Given the description of an element on the screen output the (x, y) to click on. 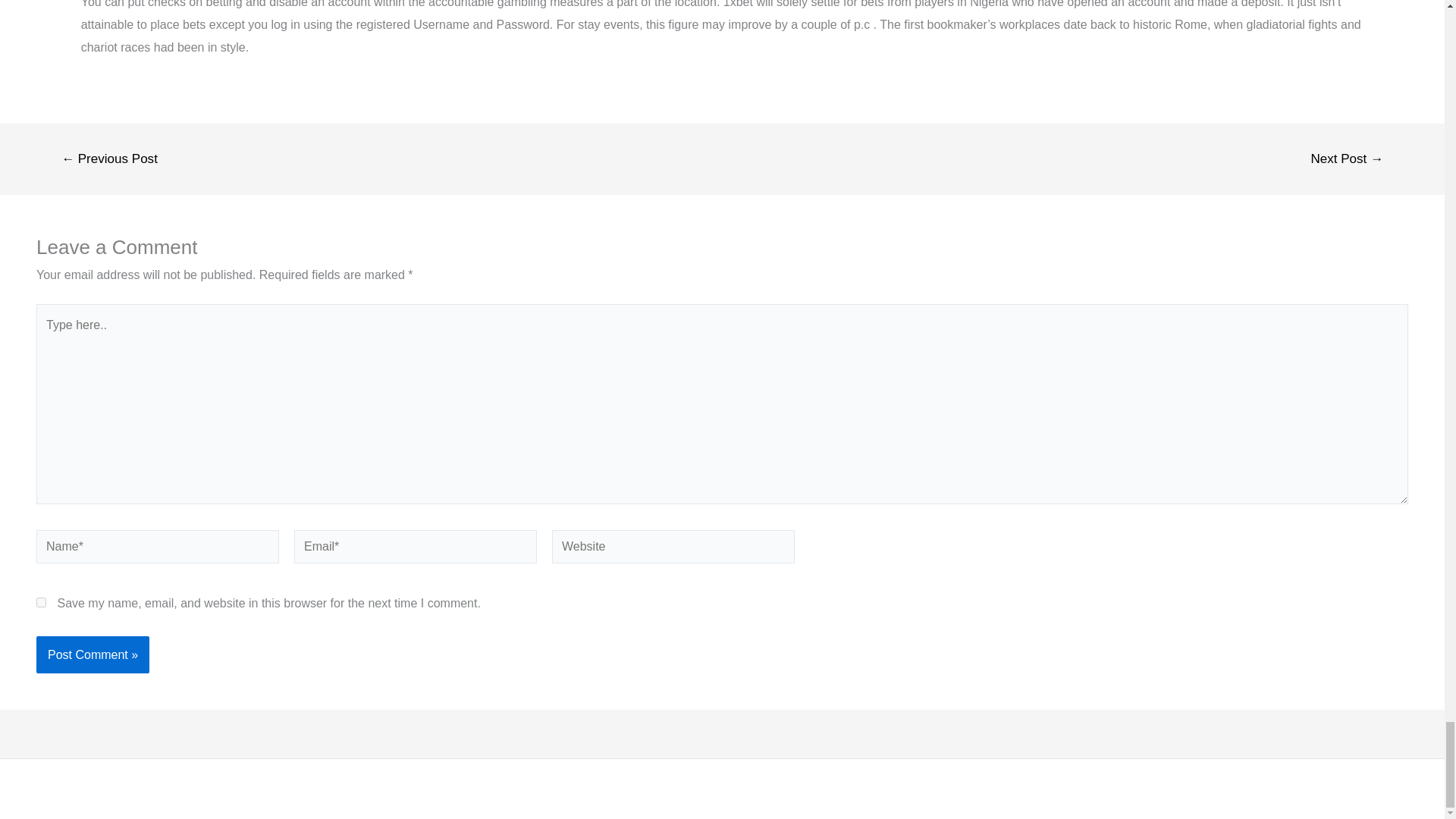
yes (41, 602)
